Given the description of an element on the screen output the (x, y) to click on. 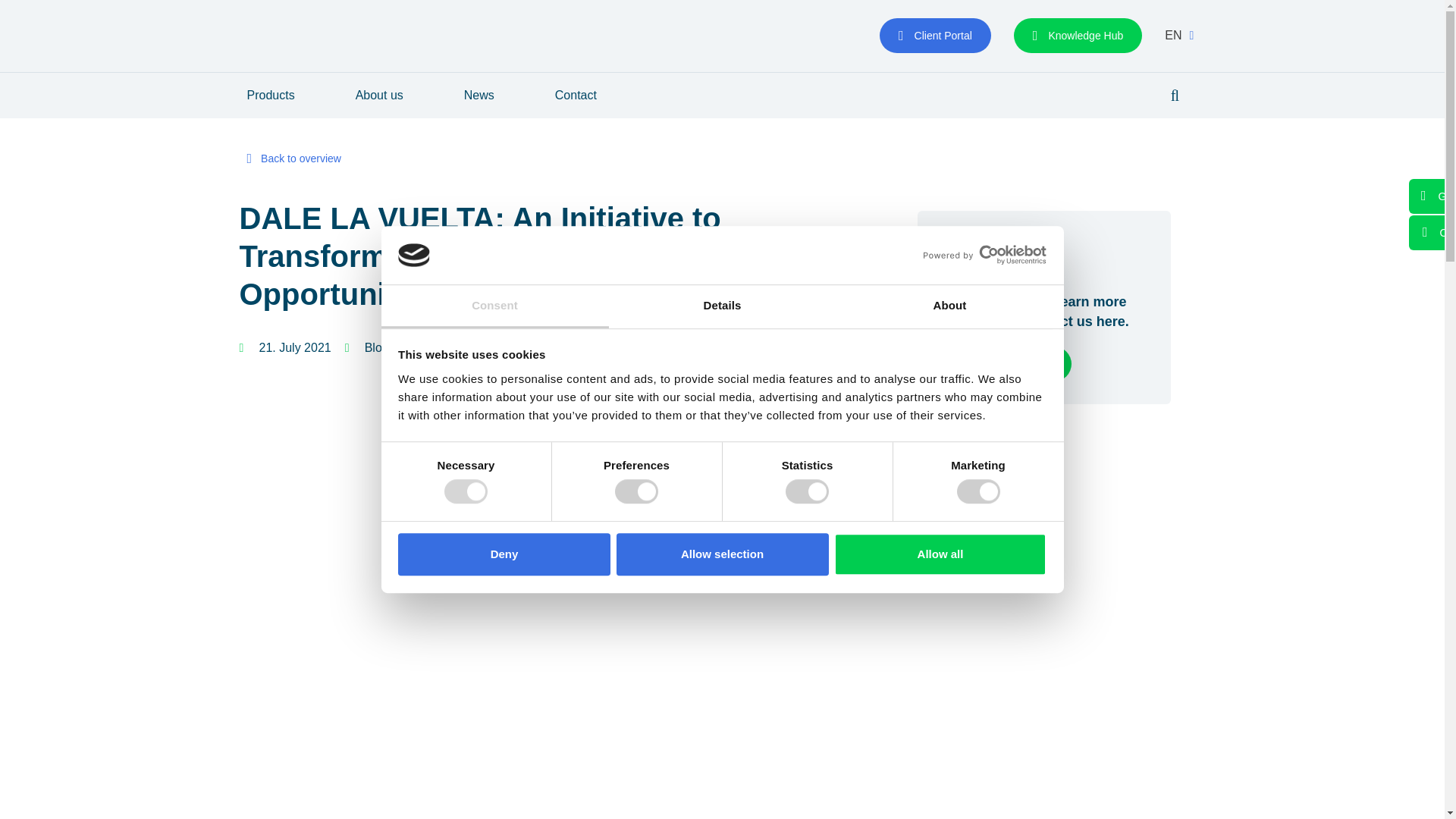
About (948, 306)
Details (721, 306)
Consent (494, 306)
